Given the description of an element on the screen output the (x, y) to click on. 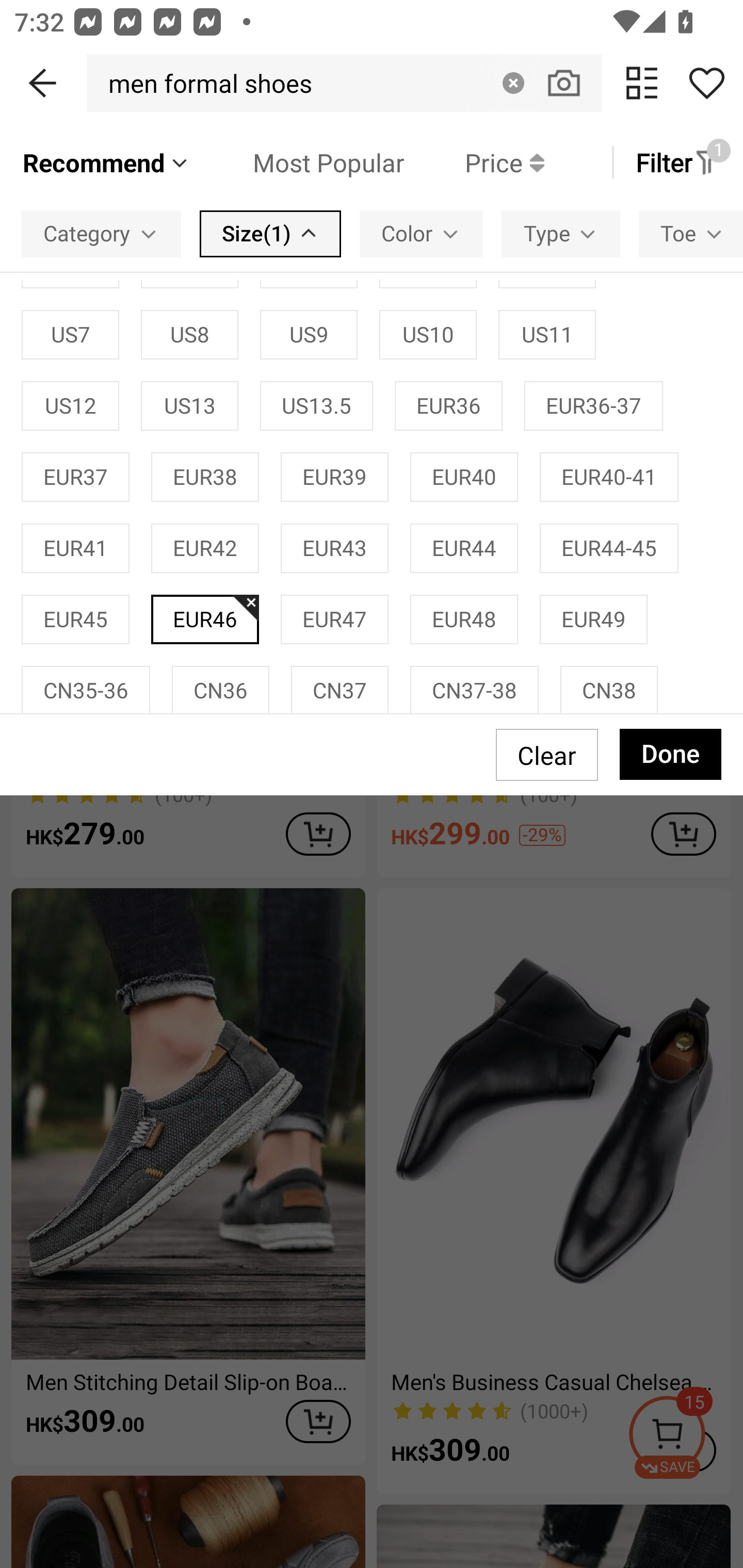
men formal shoes Clear (343, 82)
men formal shoes (204, 82)
Clear (513, 82)
change view (641, 82)
Share (706, 82)
Recommend (106, 162)
Most Popular (297, 162)
Price (474, 162)
Filter 1 (677, 162)
Category (101, 233)
Size(1) (270, 233)
Color (420, 233)
Type (560, 233)
Toe (690, 233)
